Given the description of an element on the screen output the (x, y) to click on. 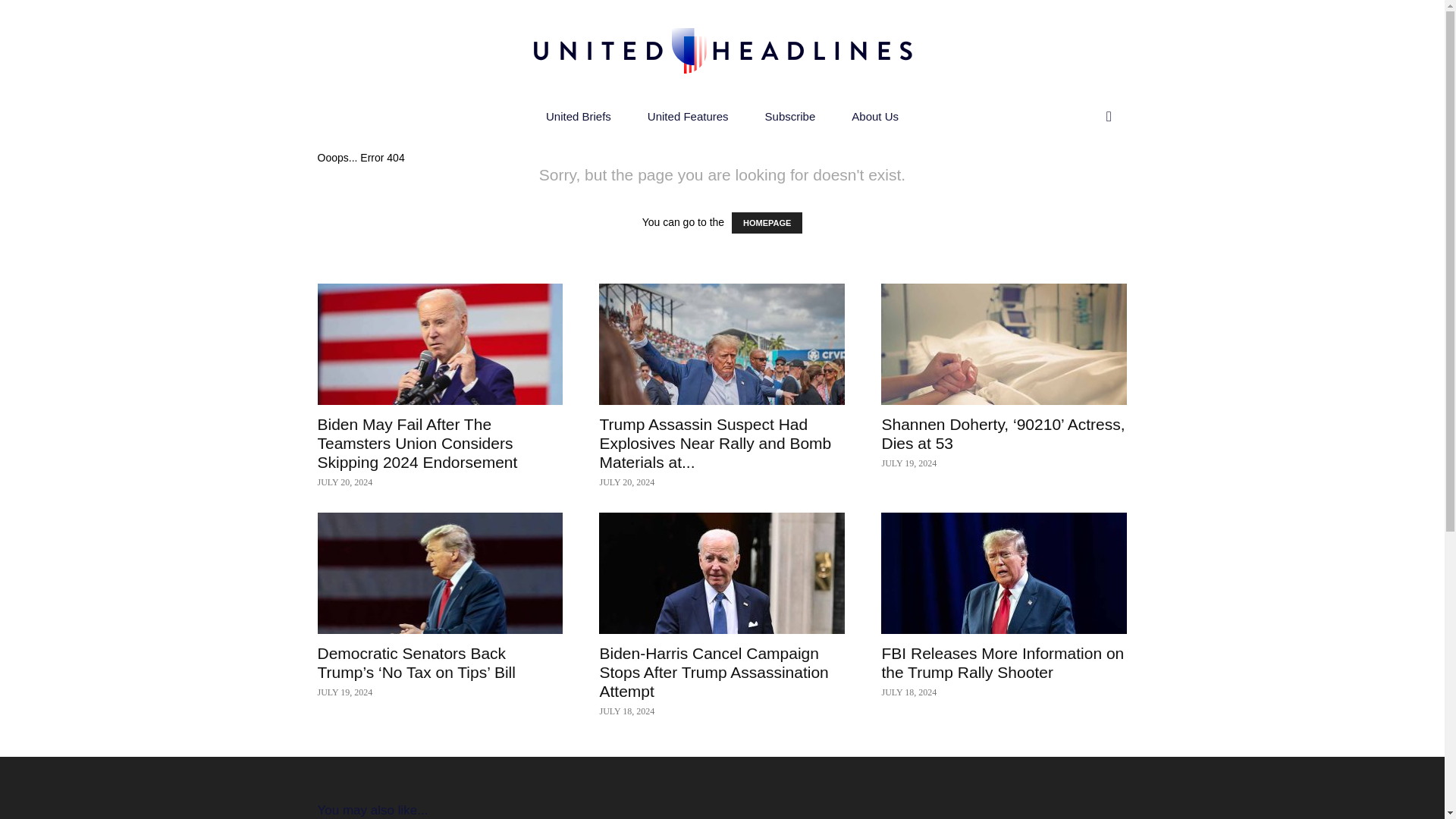
United Features (687, 116)
HOMEPAGE (767, 222)
United Briefs (577, 116)
About Us (874, 116)
FBI Releases More Information on the Trump Rally Shooter (1003, 572)
FBI Releases More Information on the Trump Rally Shooter (1002, 662)
Subscribe (790, 116)
